Given the description of an element on the screen output the (x, y) to click on. 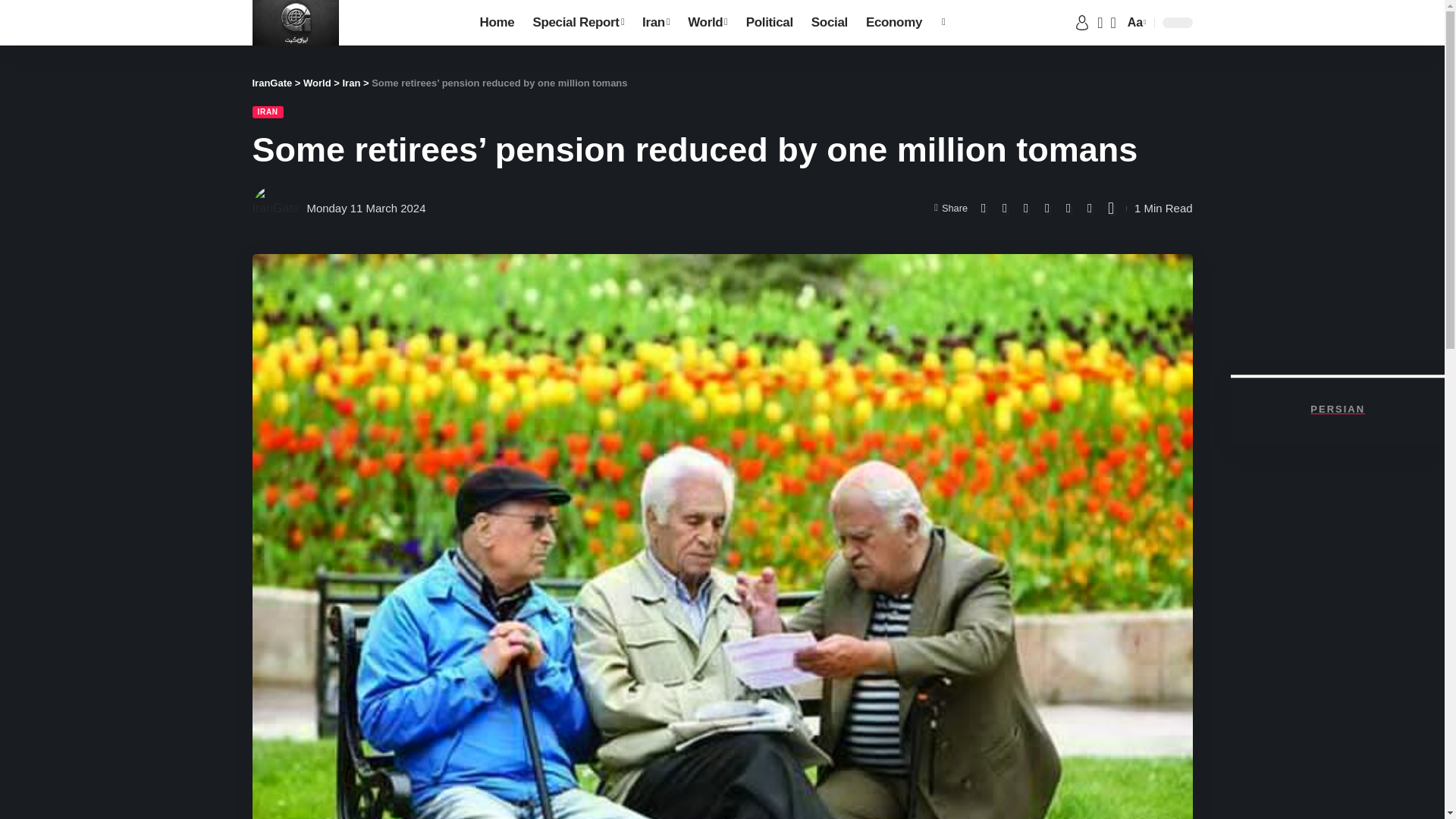
Go to IranGate. (271, 82)
Go to the World Category archives. (316, 82)
Special Report (577, 22)
Home (497, 22)
IranGate (294, 22)
Go to the Iran Category archives. (351, 82)
